Given the description of an element on the screen output the (x, y) to click on. 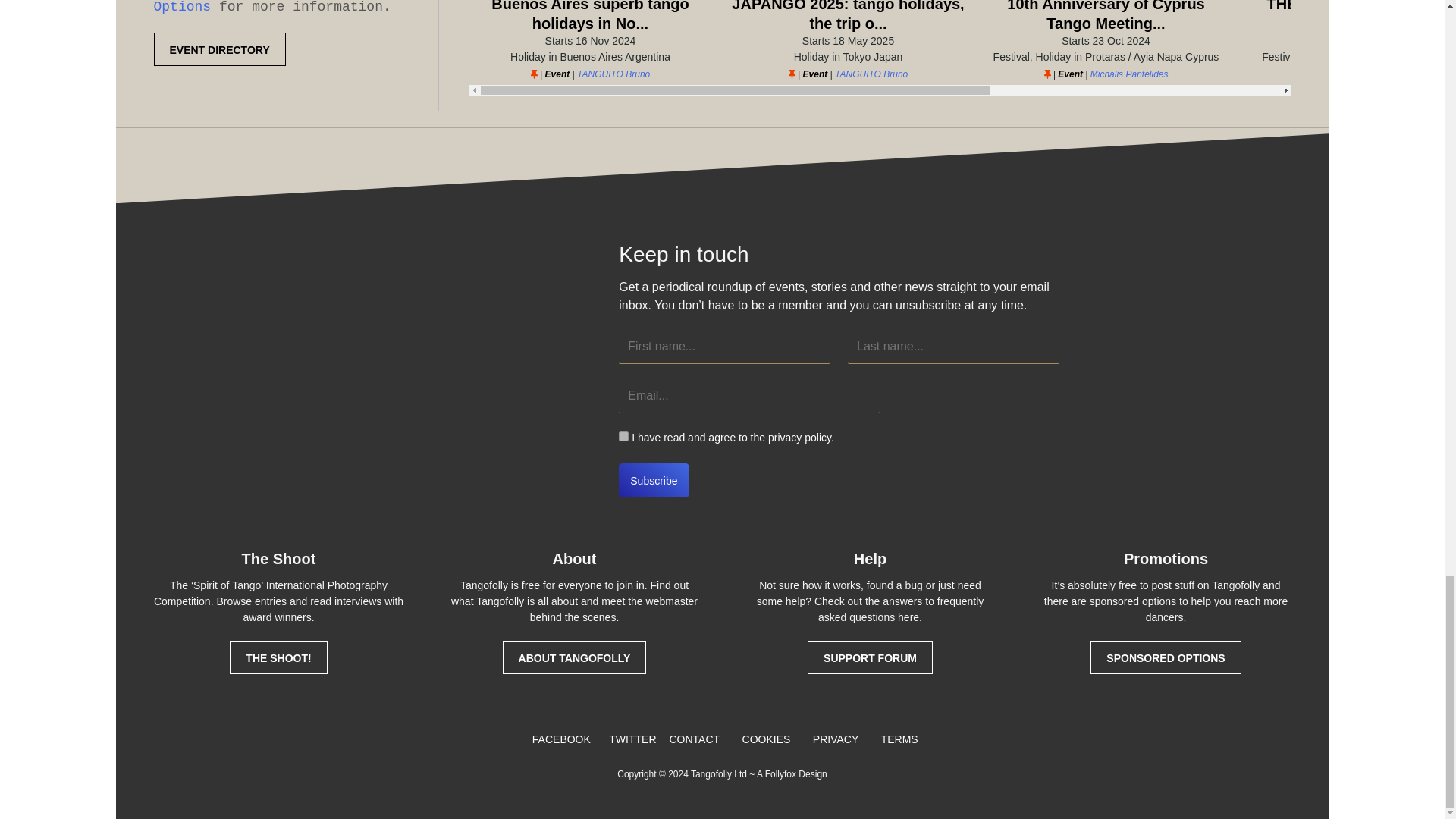
Subscribe (653, 480)
TANGUITO Bruno (870, 73)
1 (623, 436)
EVENT DIRECTORY (218, 49)
TANGUITO Bruno (612, 73)
Membership Options (255, 7)
Michalis Pantelides (1129, 73)
